Given the description of an element on the screen output the (x, y) to click on. 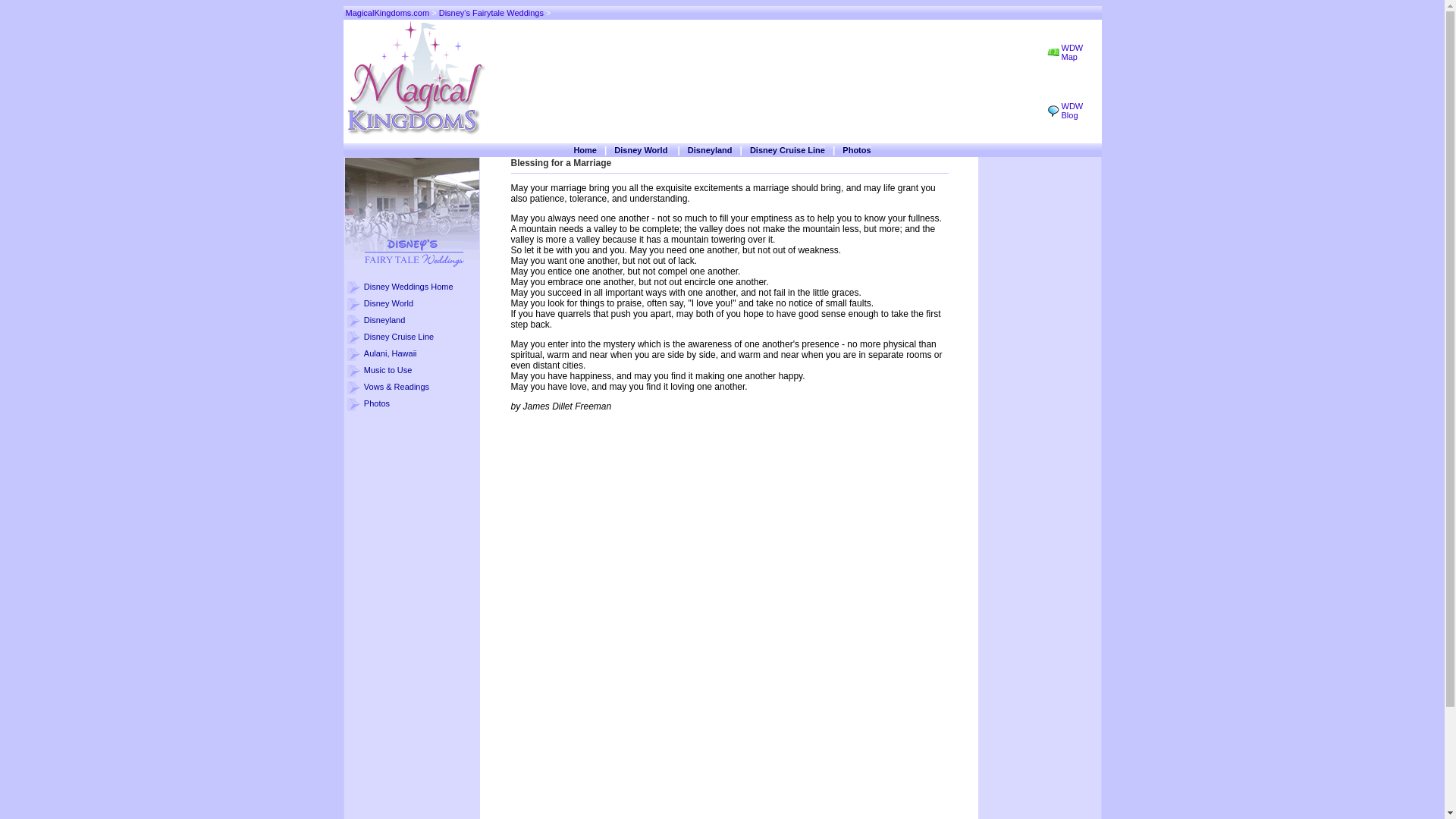
Disneyland (709, 149)
Advertisement (765, 80)
Aulani, Hawaii (390, 352)
MagicalKingdoms.com (387, 12)
Disney Cruise Line (398, 336)
Disneyland (384, 319)
Disney Weddings Home (408, 286)
Photos (856, 149)
Disney Cruise Line (787, 149)
Disney World (388, 302)
